Given the description of an element on the screen output the (x, y) to click on. 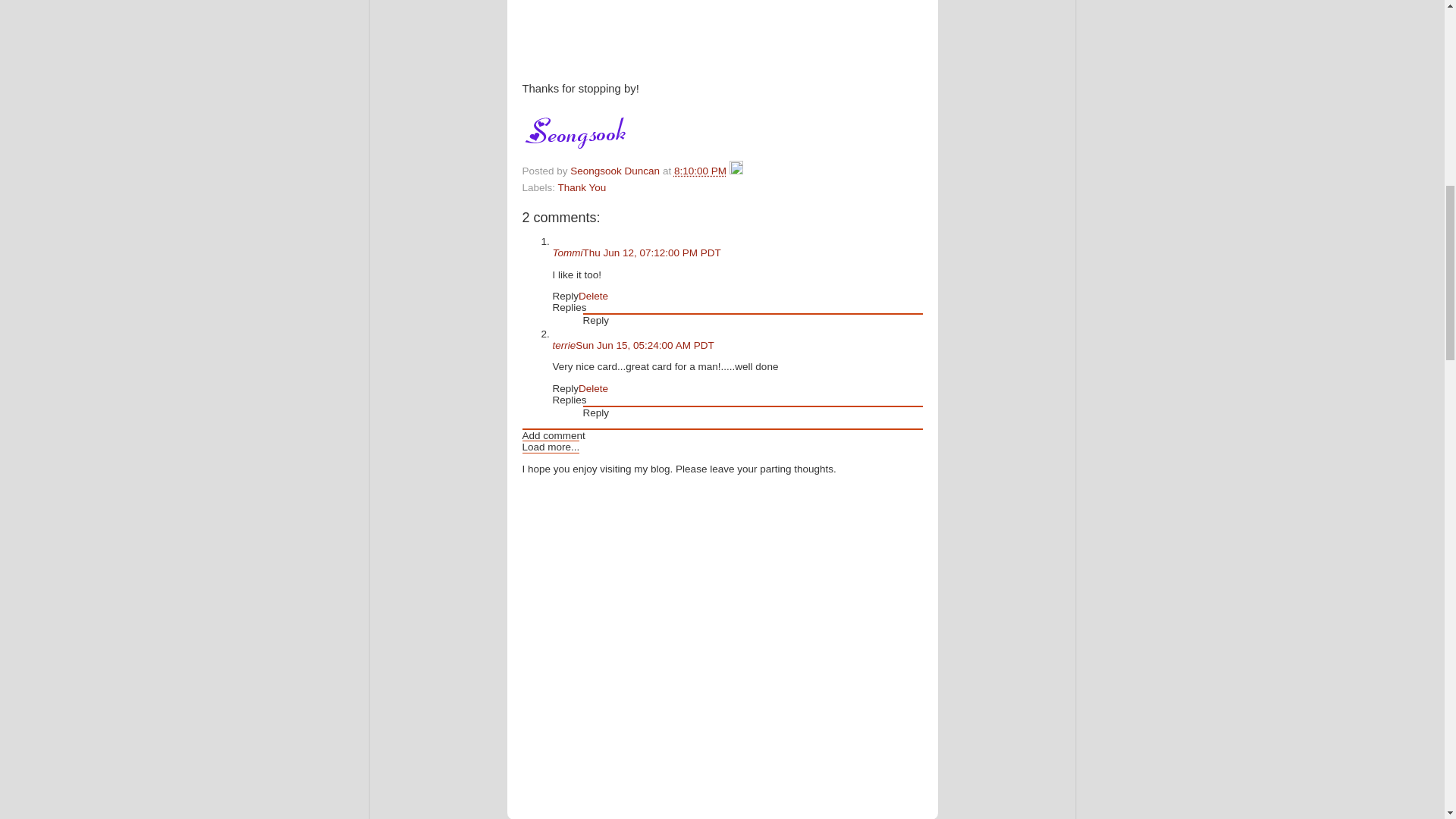
Reply (564, 388)
Sun Jun 15, 05:24:00 AM PDT (644, 345)
Reply (595, 412)
Delete (593, 296)
Replies (568, 307)
Load more... (550, 446)
Seongsook Duncan (616, 170)
Thu Jun 12, 07:12:00 PM PDT (651, 252)
Thank You (582, 187)
permanent link (700, 170)
Reply (595, 319)
8:10:00 PM (700, 170)
Edit Post (735, 170)
terrie (563, 345)
Reply (564, 296)
